Given the description of an element on the screen output the (x, y) to click on. 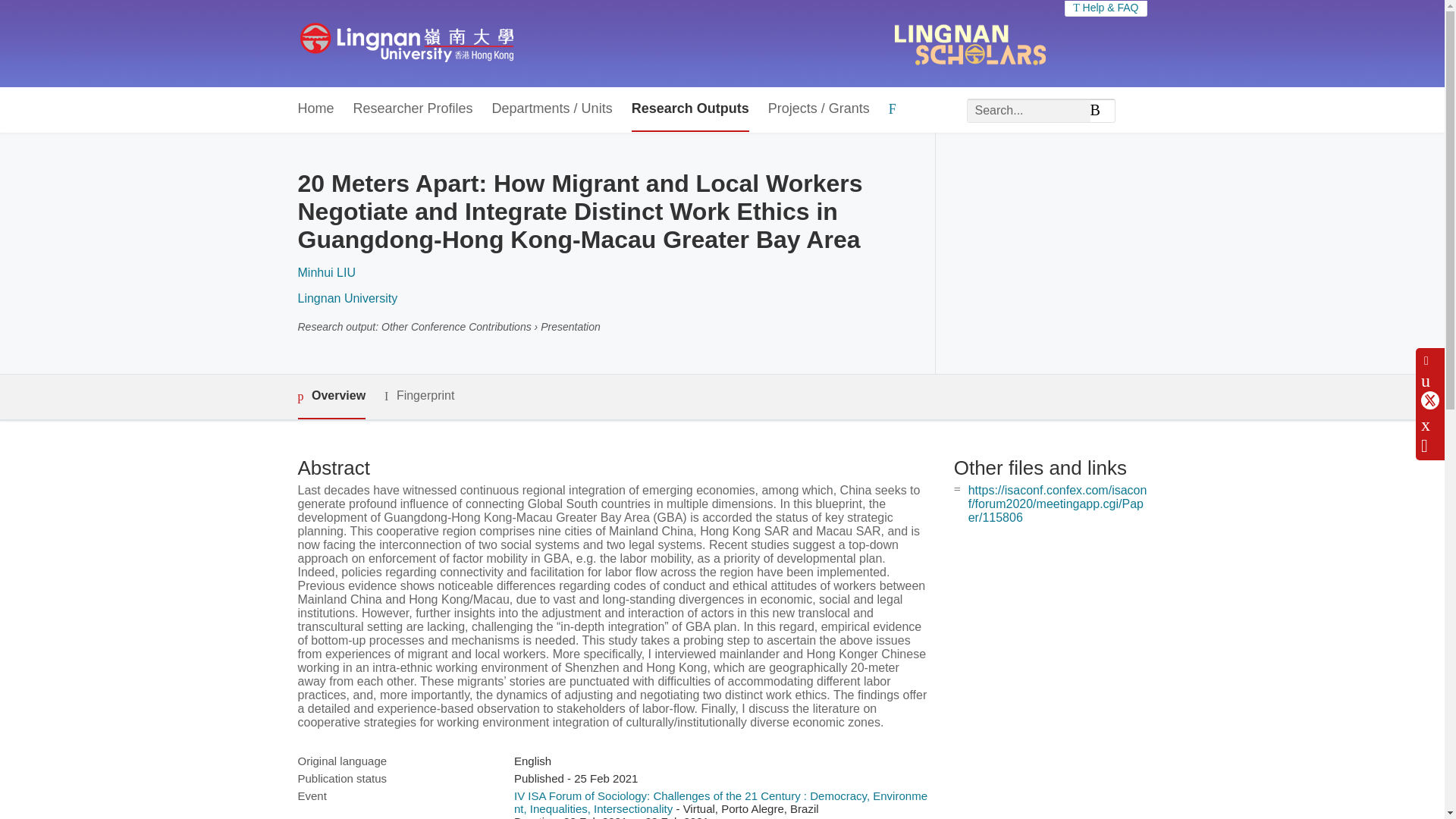
Overview (331, 396)
Research Outputs (690, 108)
Lingnan University (347, 297)
Minhui LIU (326, 272)
Researcher Profiles (413, 108)
Fingerprint (419, 395)
Lingnan Scholars Home (406, 43)
